Given the description of an element on the screen output the (x, y) to click on. 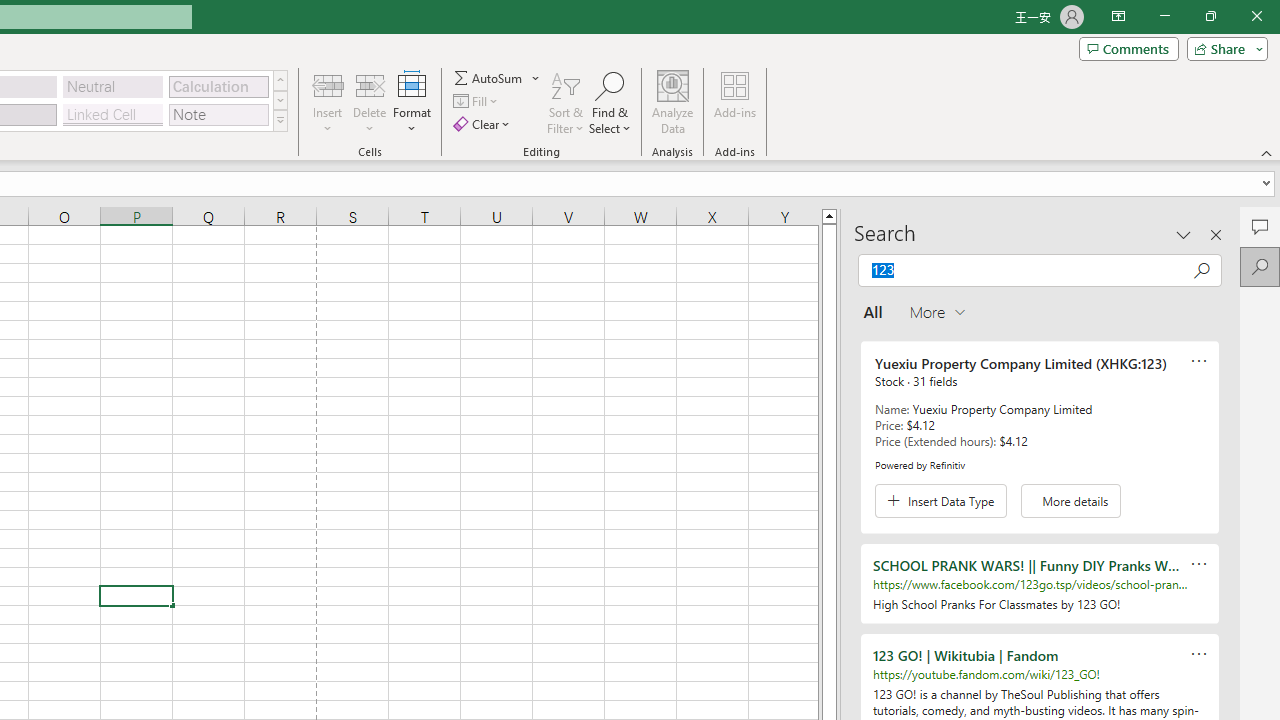
Restore Down (1210, 16)
Class: NetUIImage (280, 120)
Insert Cells (328, 84)
Comments (1128, 48)
Fill (477, 101)
